Given the description of an element on the screen output the (x, y) to click on. 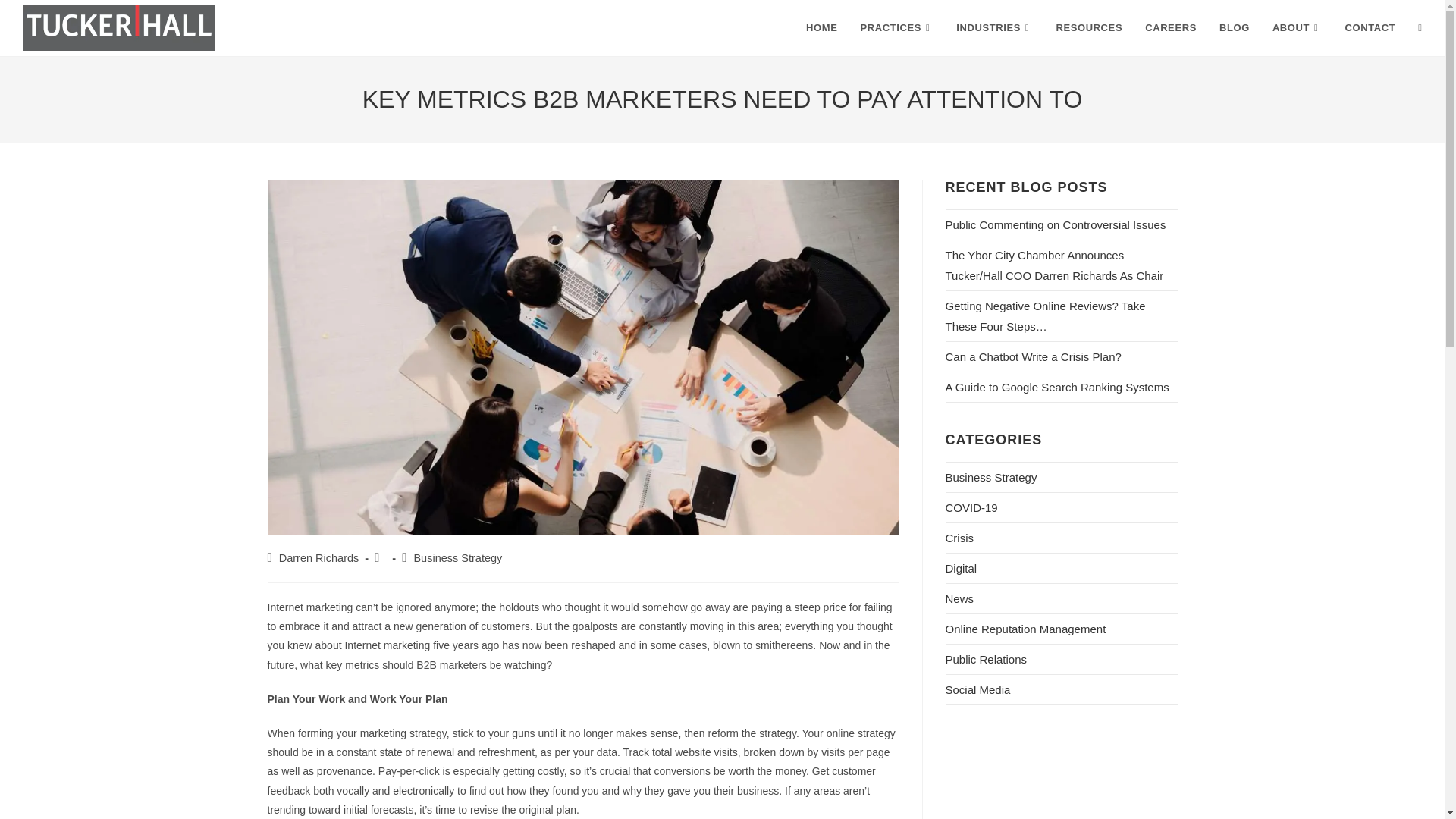
CAREERS (1171, 28)
CONTACT (1369, 28)
PRACTICES (896, 28)
HOME (821, 28)
BLOG (1234, 28)
Posts by Darren Richards (319, 558)
RESOURCES (1088, 28)
INDUSTRIES (993, 28)
ABOUT (1296, 28)
